Given the description of an element on the screen output the (x, y) to click on. 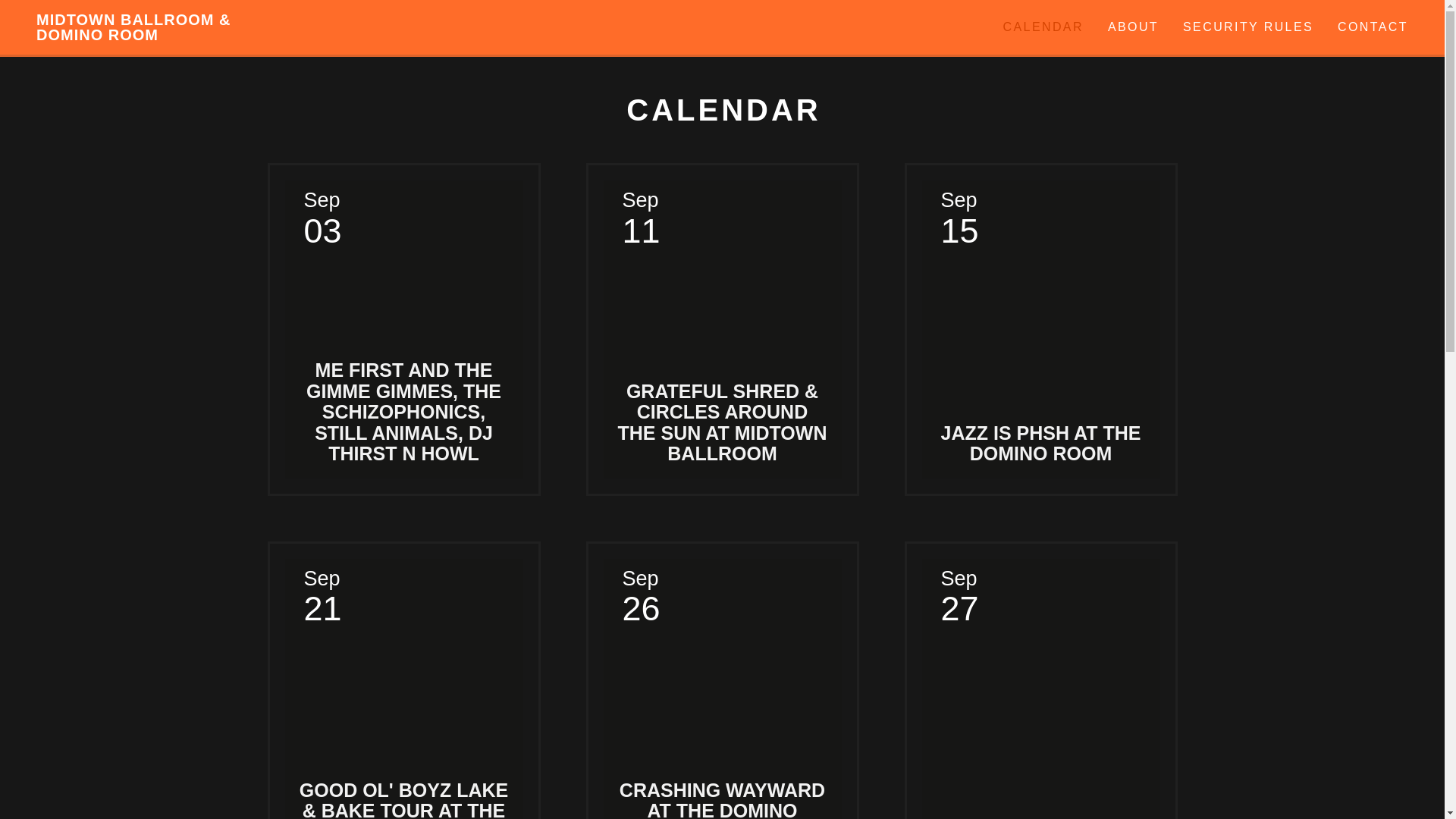
CALENDAR (1043, 27)
SECURITY RULES (1247, 27)
CONTACT (1372, 27)
ABOUT (1133, 27)
